Given the description of an element on the screen output the (x, y) to click on. 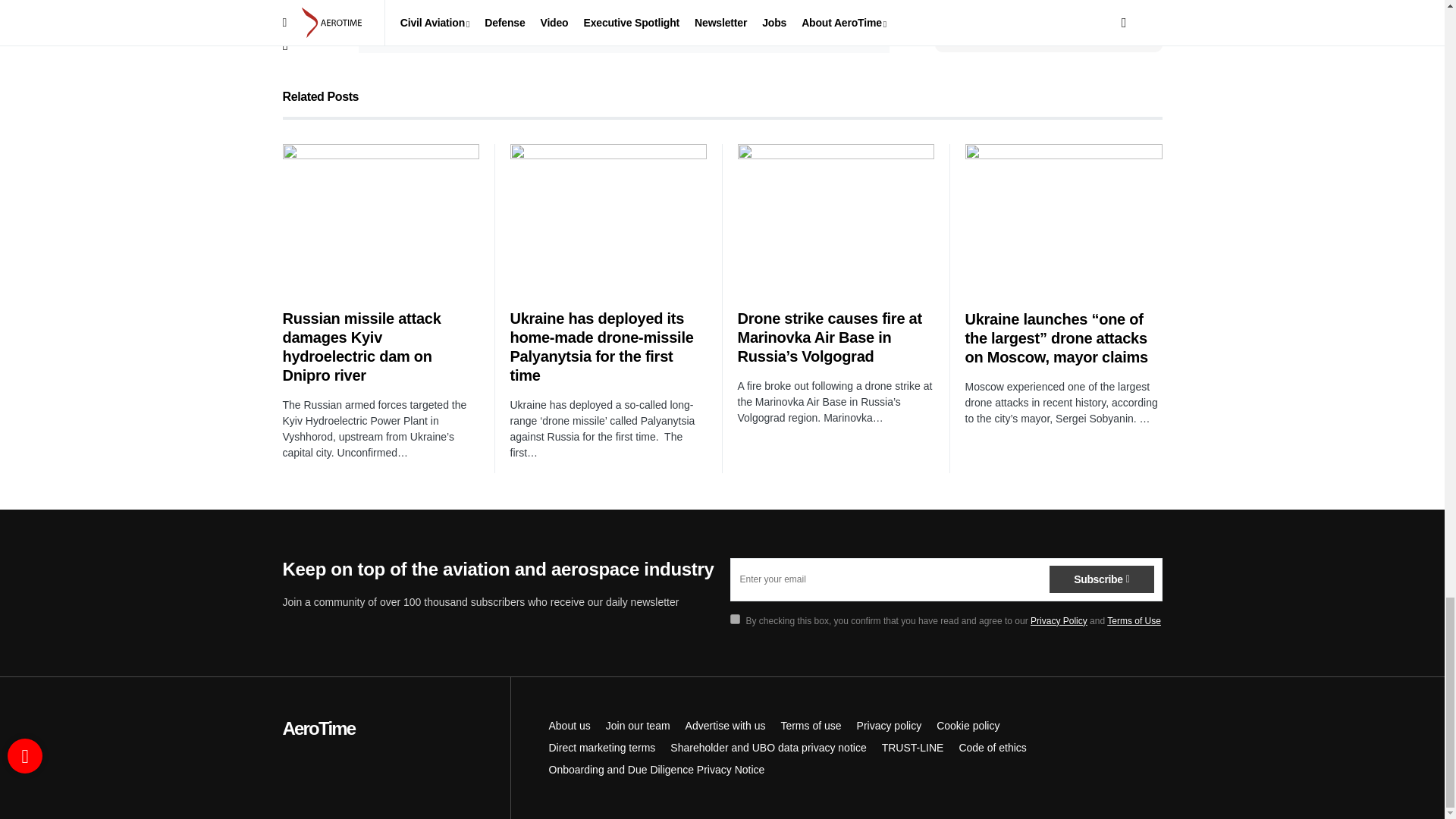
on (392, 13)
on (734, 619)
